Given the description of an element on the screen output the (x, y) to click on. 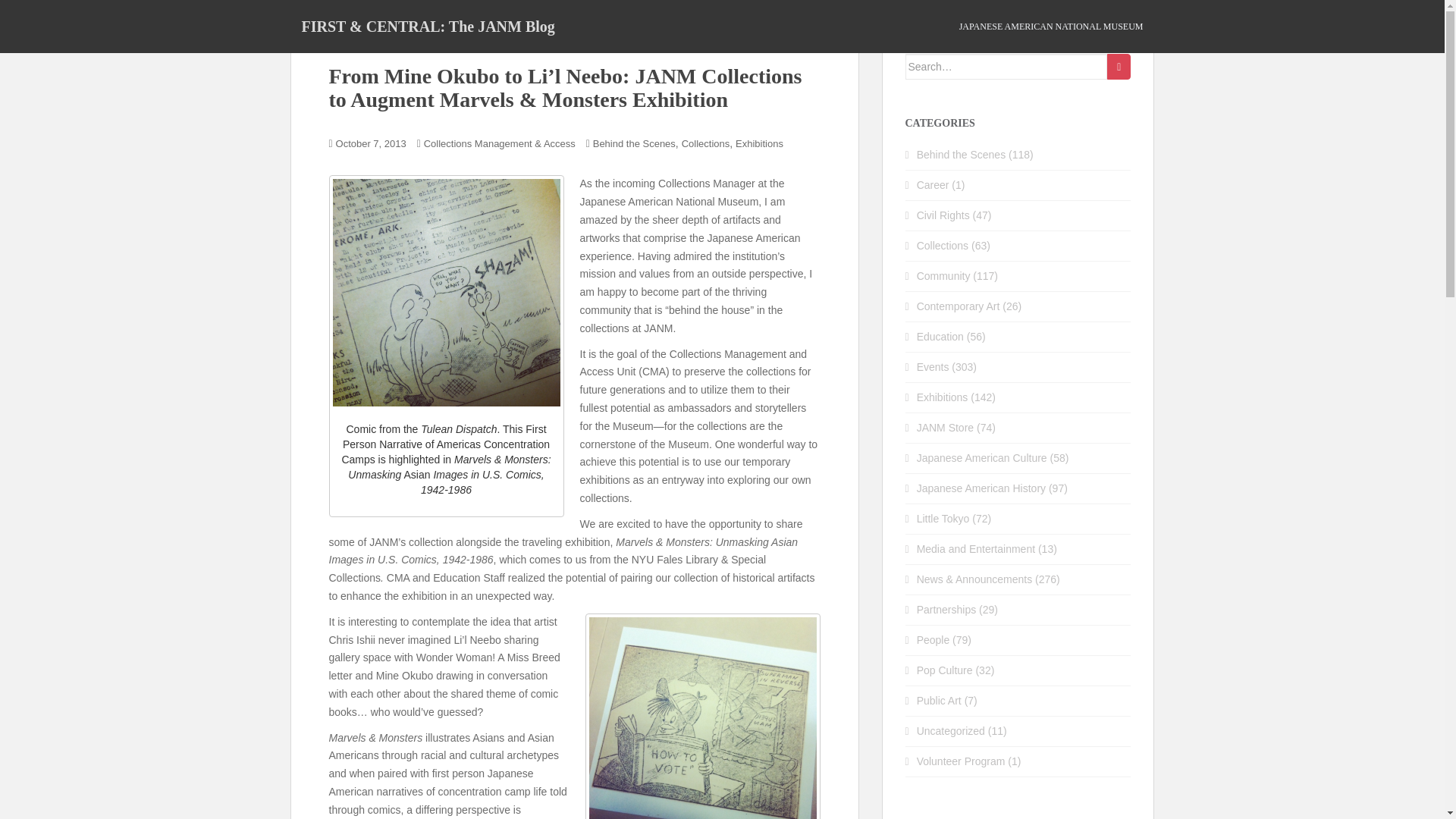
Education (940, 336)
JANM Store (945, 427)
Japanese American Culture (981, 458)
Career (933, 184)
Events (933, 367)
Contemporary Art (958, 306)
Civil Rights (943, 215)
October 7, 2013 (371, 143)
Exhibitions (942, 397)
Community (944, 275)
Behind the Scenes (633, 143)
Behind the Scenes (961, 154)
Collections (942, 245)
Japanese American History (981, 488)
Search for: (1006, 66)
